Given the description of an element on the screen output the (x, y) to click on. 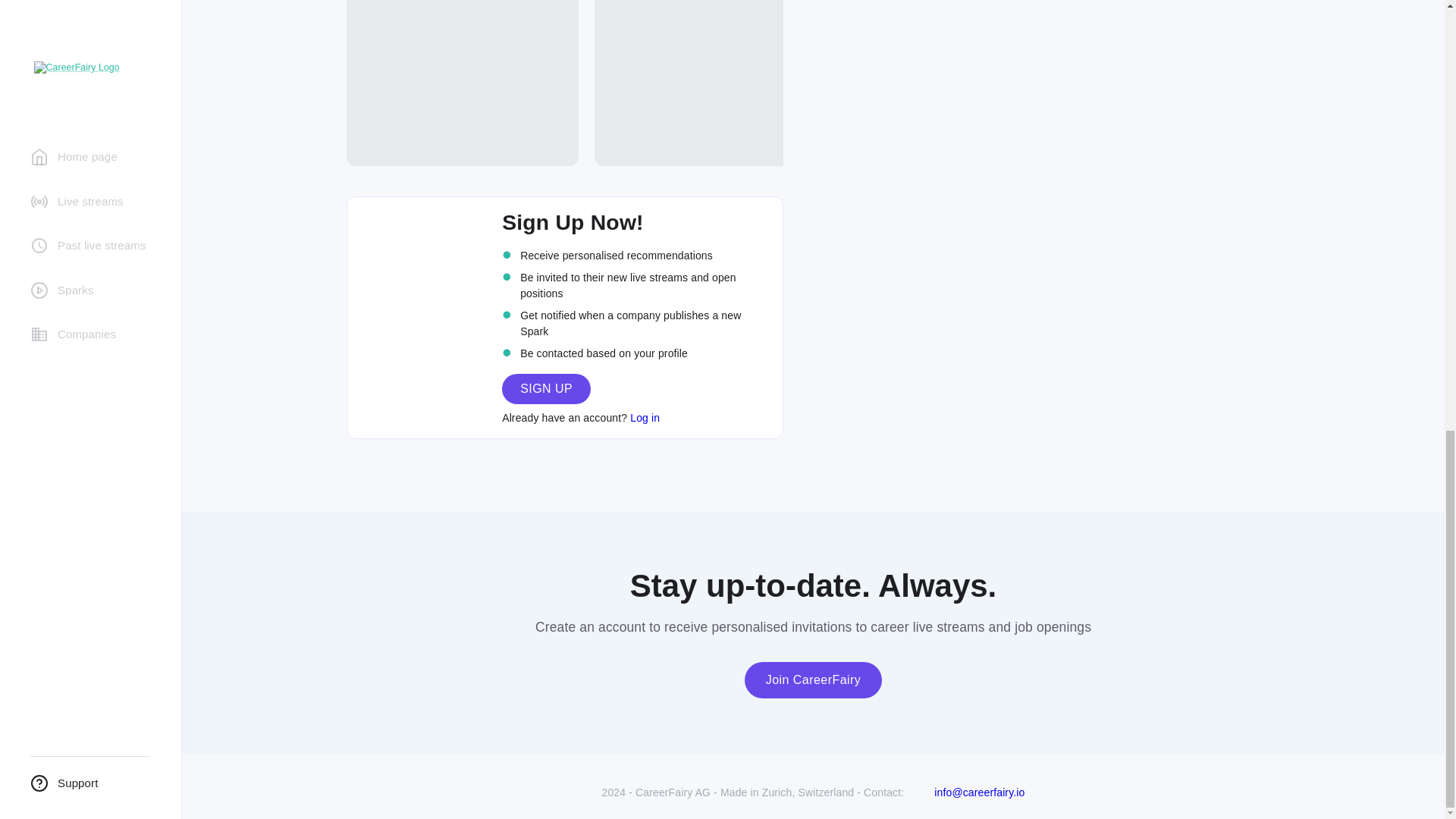
SIGN UP (546, 388)
Log in (644, 417)
SIGN UP (546, 388)
Join CareerFairy (813, 679)
Join CareerFairy (813, 679)
